Given the description of an element on the screen output the (x, y) to click on. 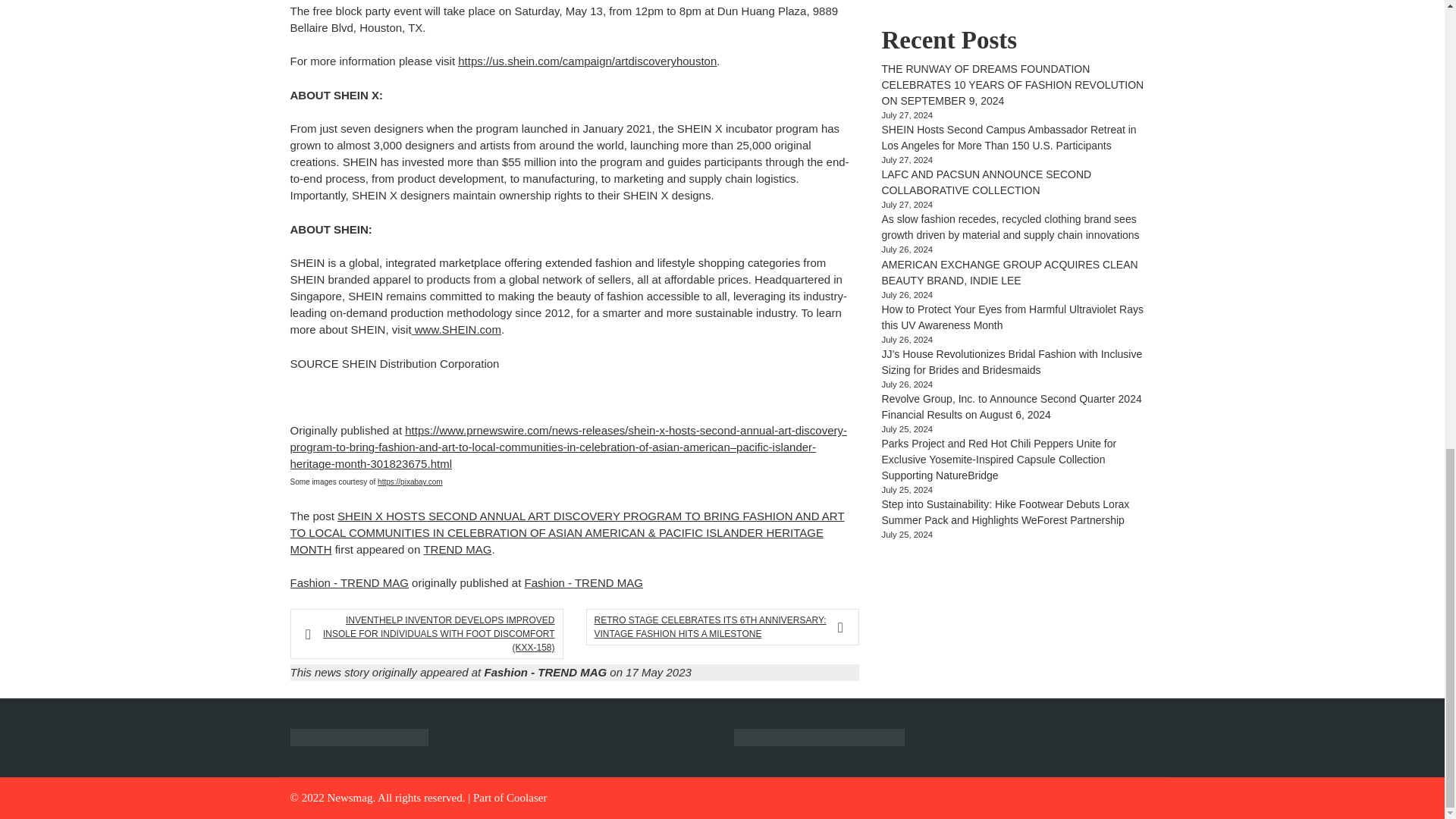
www.SHEIN.com (457, 328)
TREND MAG (457, 549)
Fashion - TREND MAG (348, 582)
Fashion - TREND MAG (583, 582)
Fashion - TREND MAG on 17 May 2023 (586, 671)
